Given the description of an element on the screen output the (x, y) to click on. 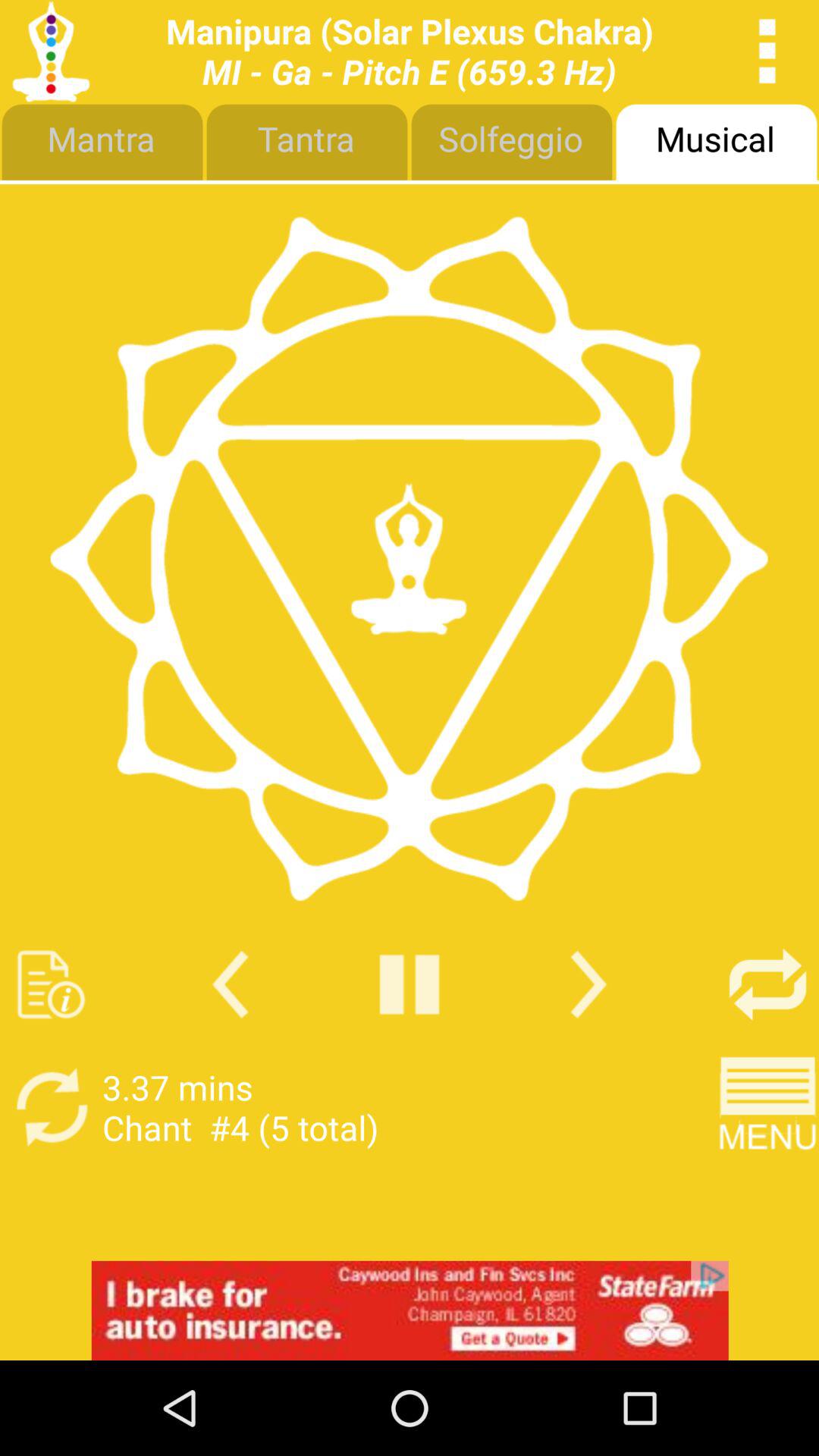
go to menu (767, 1107)
